Given the description of an element on the screen output the (x, y) to click on. 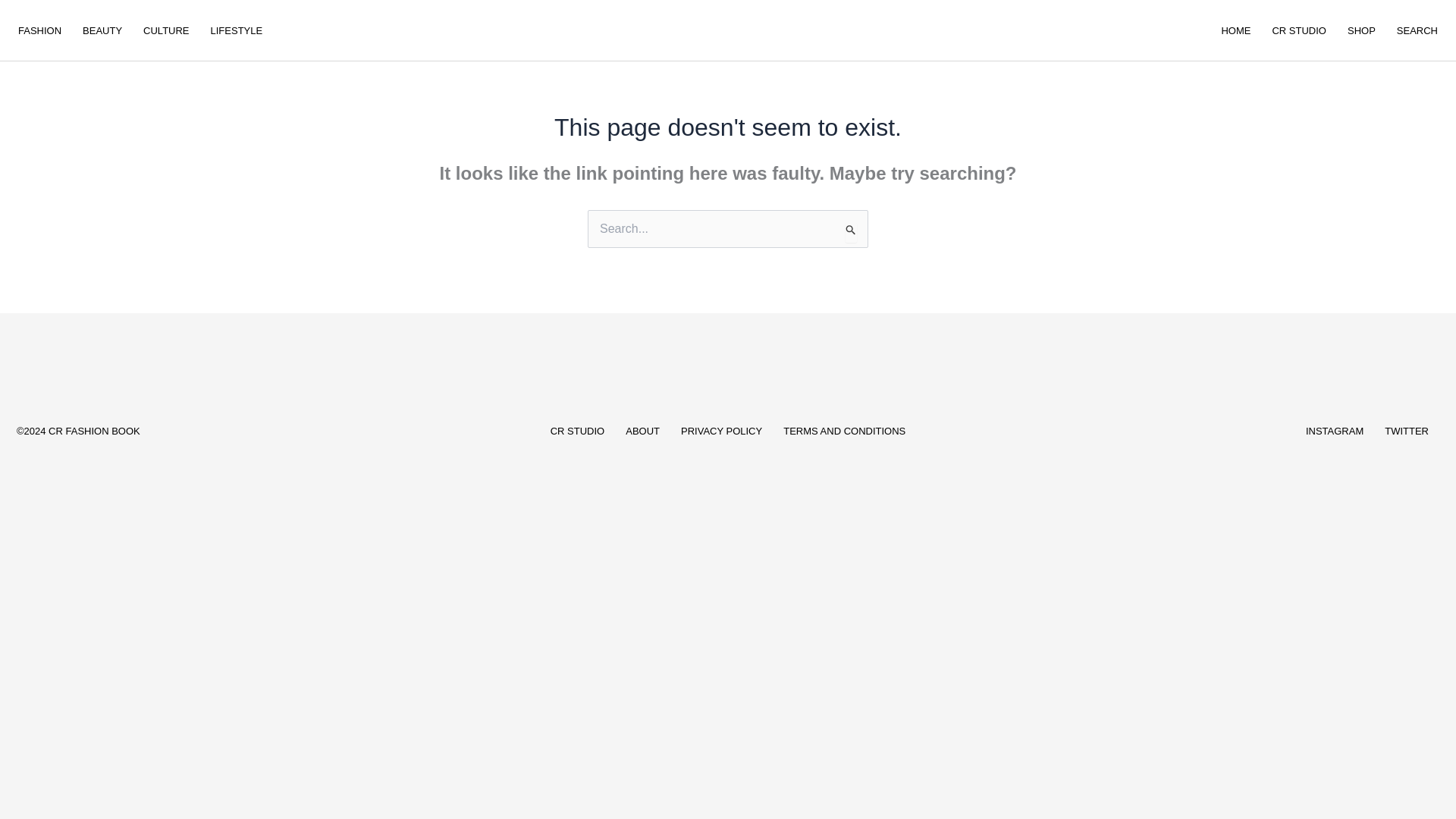
BEAUTY (101, 30)
CR STUDIO (1298, 30)
CULTURE (165, 30)
INSTAGRAM (1334, 430)
SHOP (1361, 30)
SEARCH (1417, 30)
FASHION (39, 30)
ABOUT (641, 430)
TWITTER (1406, 430)
LIFESTYLE (236, 30)
